Given the description of an element on the screen output the (x, y) to click on. 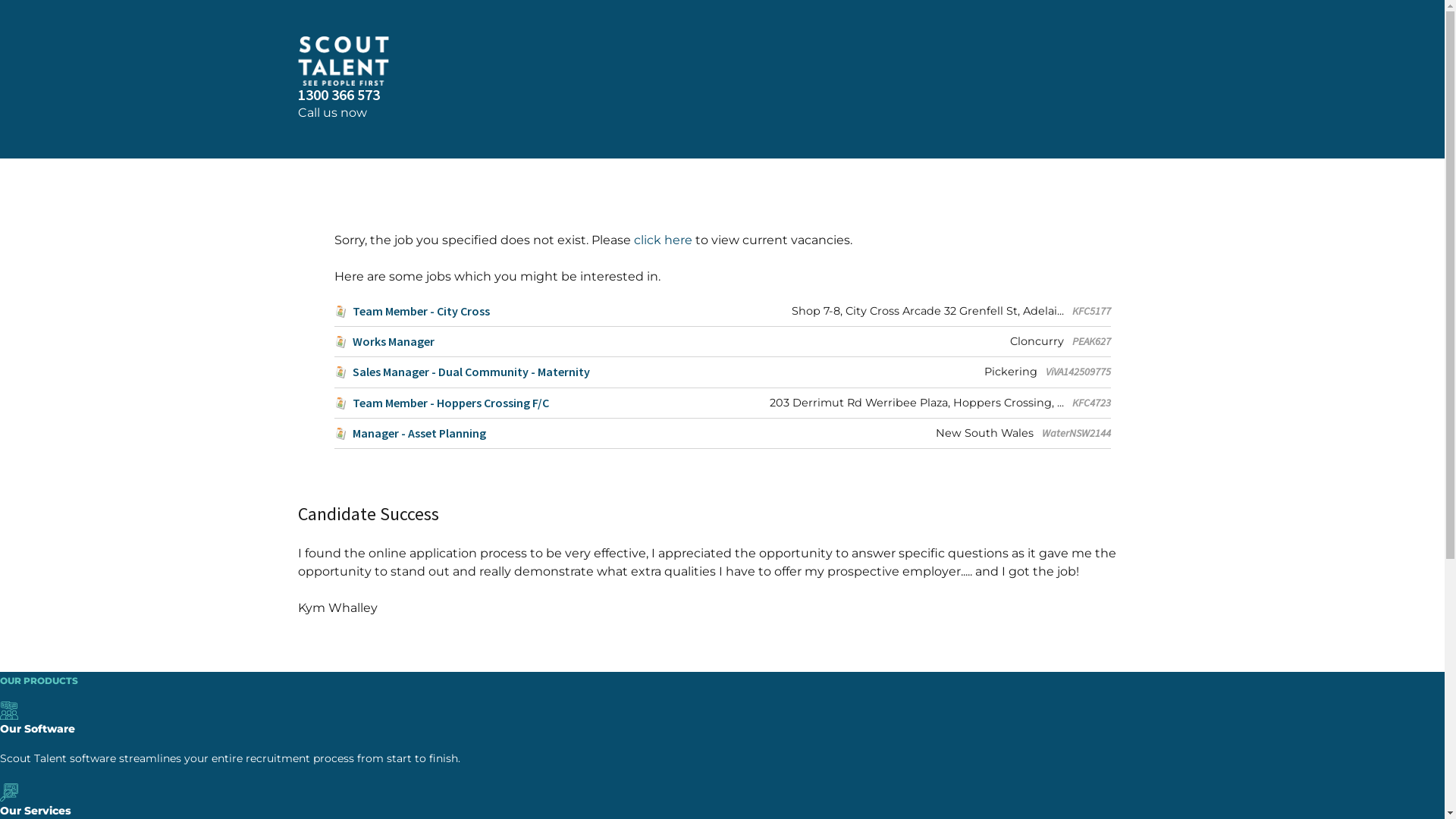
Sales Manager - Dual Community - Maternity Element type: text (461, 371)
click here Element type: text (662, 239)
Manager - Asset Planning Element type: text (409, 433)
Team Member - City Cross Element type: text (411, 311)
Works Manager Element type: text (383, 341)
Scout Talent Element type: hover (721, 60)
Team Member - Hoppers Crossing F/C Element type: text (440, 402)
